Given the description of an element on the screen output the (x, y) to click on. 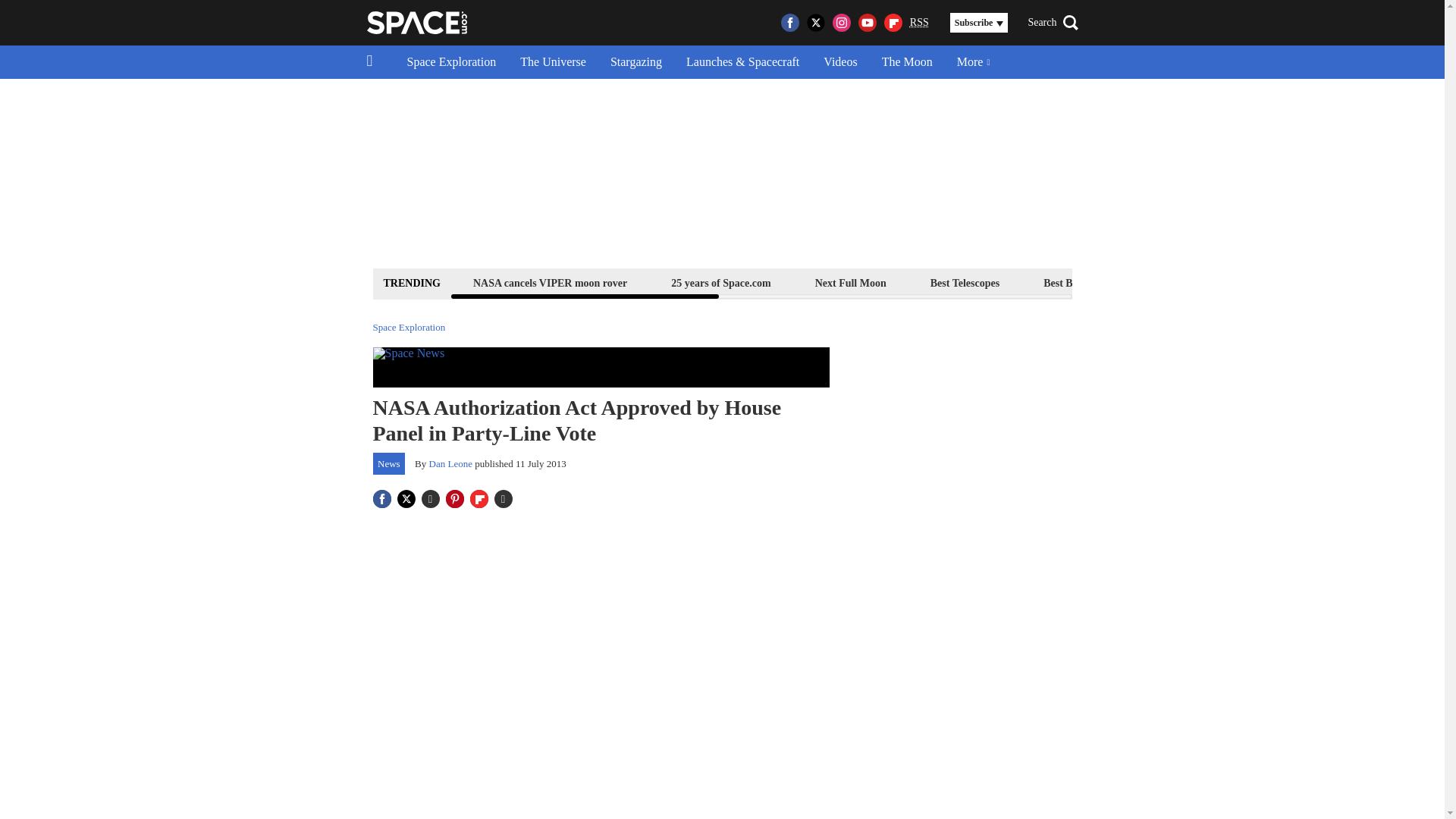
Best Telescopes (964, 282)
25 years of Space.com (720, 282)
Best Star Projectors (1204, 282)
Best Binoculars (1078, 282)
Stargazing (636, 61)
The Universe (553, 61)
RSS (919, 22)
NASA cancels VIPER moon rover (549, 282)
Next Full Moon (850, 282)
Really Simple Syndication (919, 21)
The Moon (906, 61)
Space Calendar (1329, 282)
Videos (839, 61)
Space Exploration (451, 61)
